Given the description of an element on the screen output the (x, y) to click on. 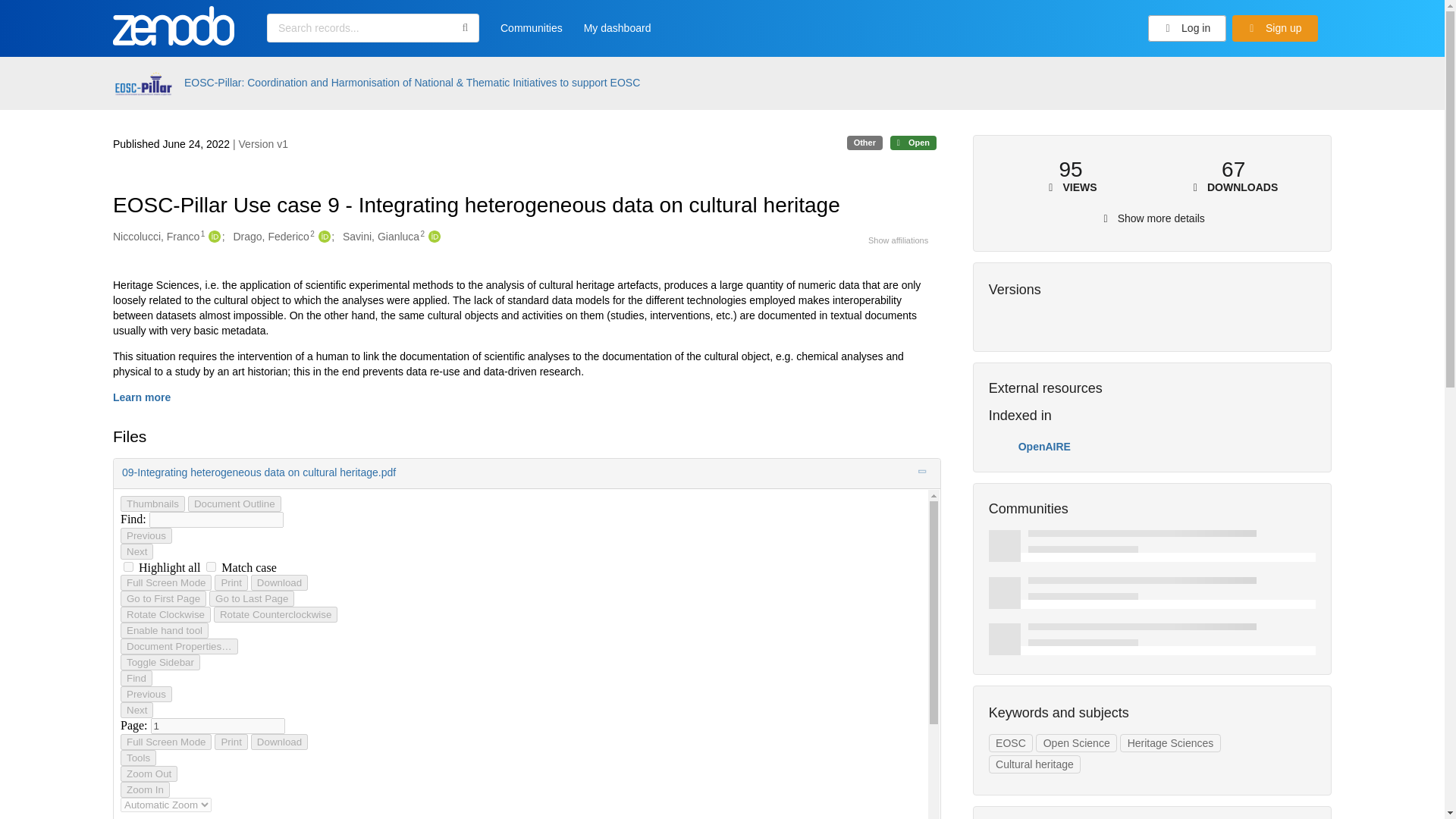
Sign up (1274, 28)
Show affiliations (898, 240)
Niccolucci, Franco1 (159, 237)
Open Science (1075, 742)
Heritage Sciences (1169, 742)
Search results for Heritage Sciences (1169, 742)
Drago, Federico2 (273, 237)
Savini, Gianluca2 (383, 237)
Communities (531, 32)
Learn more (141, 397)
